Given the description of an element on the screen output the (x, y) to click on. 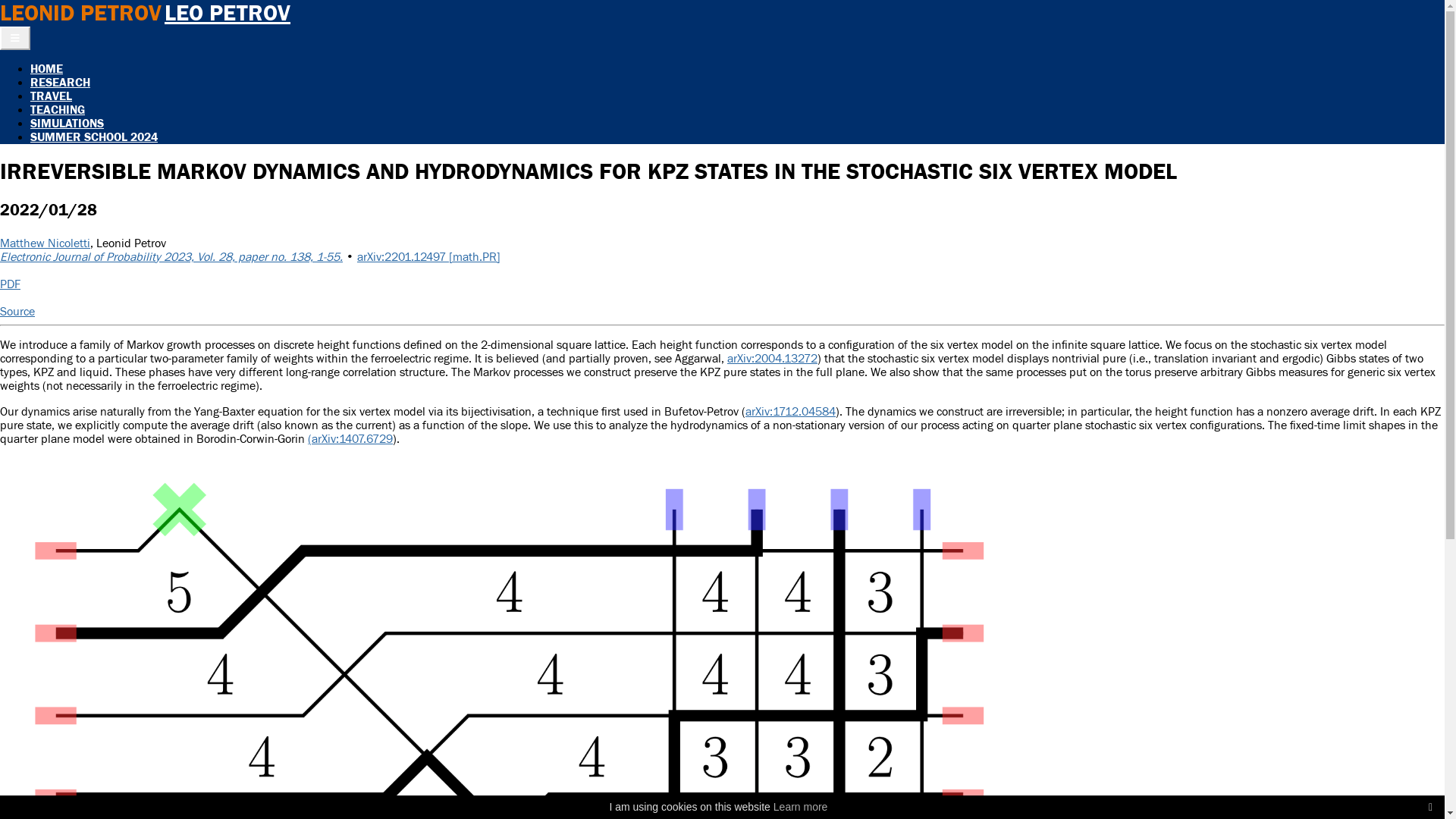
Learn more Element type: text (800, 806)
arXiv:2201.12497 [math.PR] Element type: text (428, 256)
Matthew Nicoletti Element type: text (45, 243)
arXiv:1712.04584 Element type: text (790, 411)
LEONID PETROV Element type: text (80, 13)
Source Element type: text (17, 311)
RESEARCH Element type: text (60, 82)
SUMMER SCHOOL 2024 Element type: text (93, 137)
SIMULATIONS Element type: text (66, 123)
TEACHING Element type: text (57, 109)
HOME Element type: text (46, 68)
(arXiv:1407.6729 Element type: text (349, 438)
arXiv:2004.13272 Element type: text (772, 358)
PDF Element type: text (10, 284)
LEO PETROV Element type: text (227, 13)
TRAVEL Element type: text (51, 96)
